Given the description of an element on the screen output the (x, y) to click on. 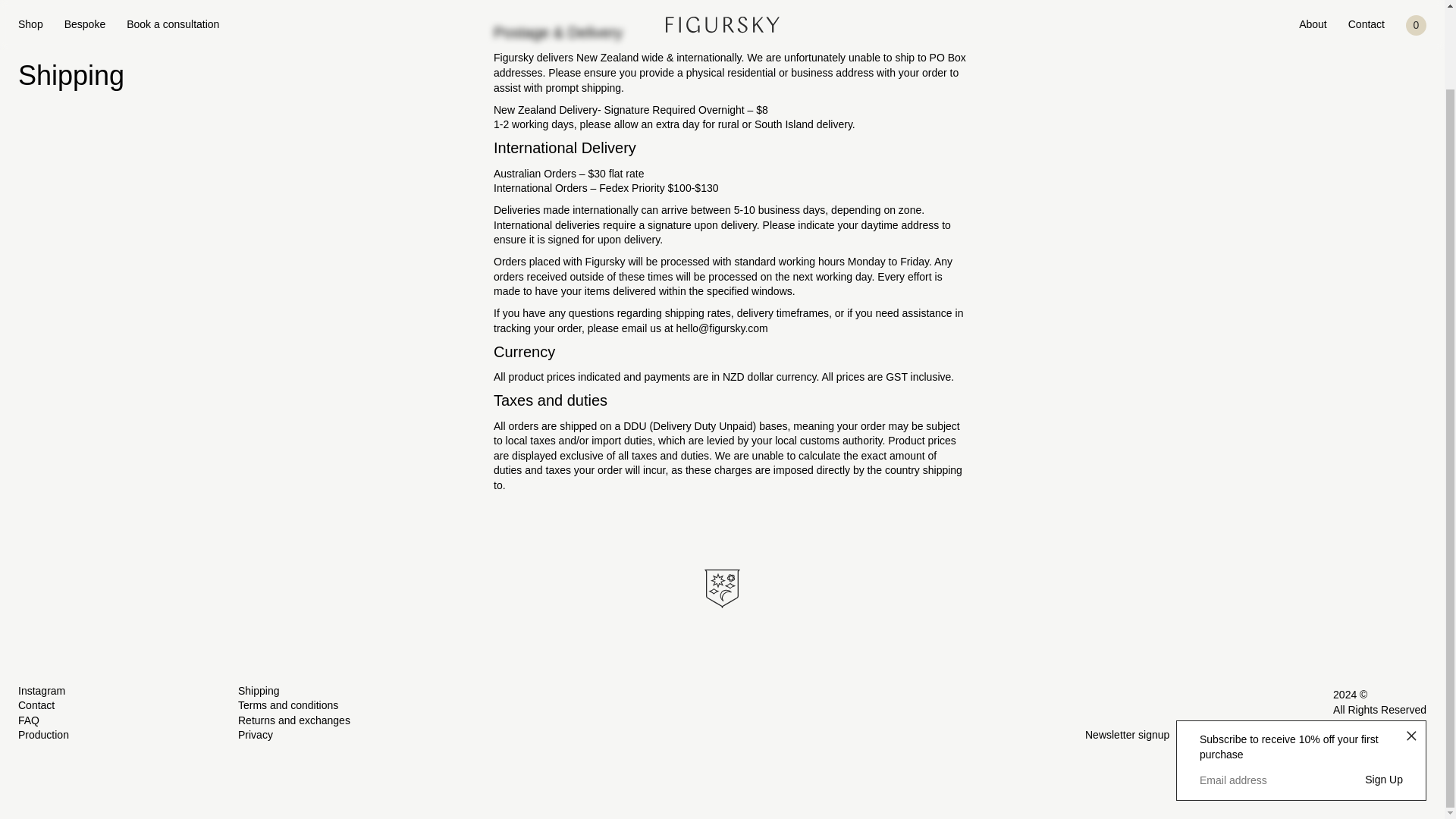
Newsletter signup (1126, 735)
Production (42, 734)
Site credit (1356, 734)
Privacy (255, 734)
Shipping (258, 690)
FAQ (28, 720)
Sign Up (1384, 691)
Contact (36, 705)
Terms and conditions (287, 705)
Instagram (41, 690)
Returns and exchanges (294, 720)
